Given the description of an element on the screen output the (x, y) to click on. 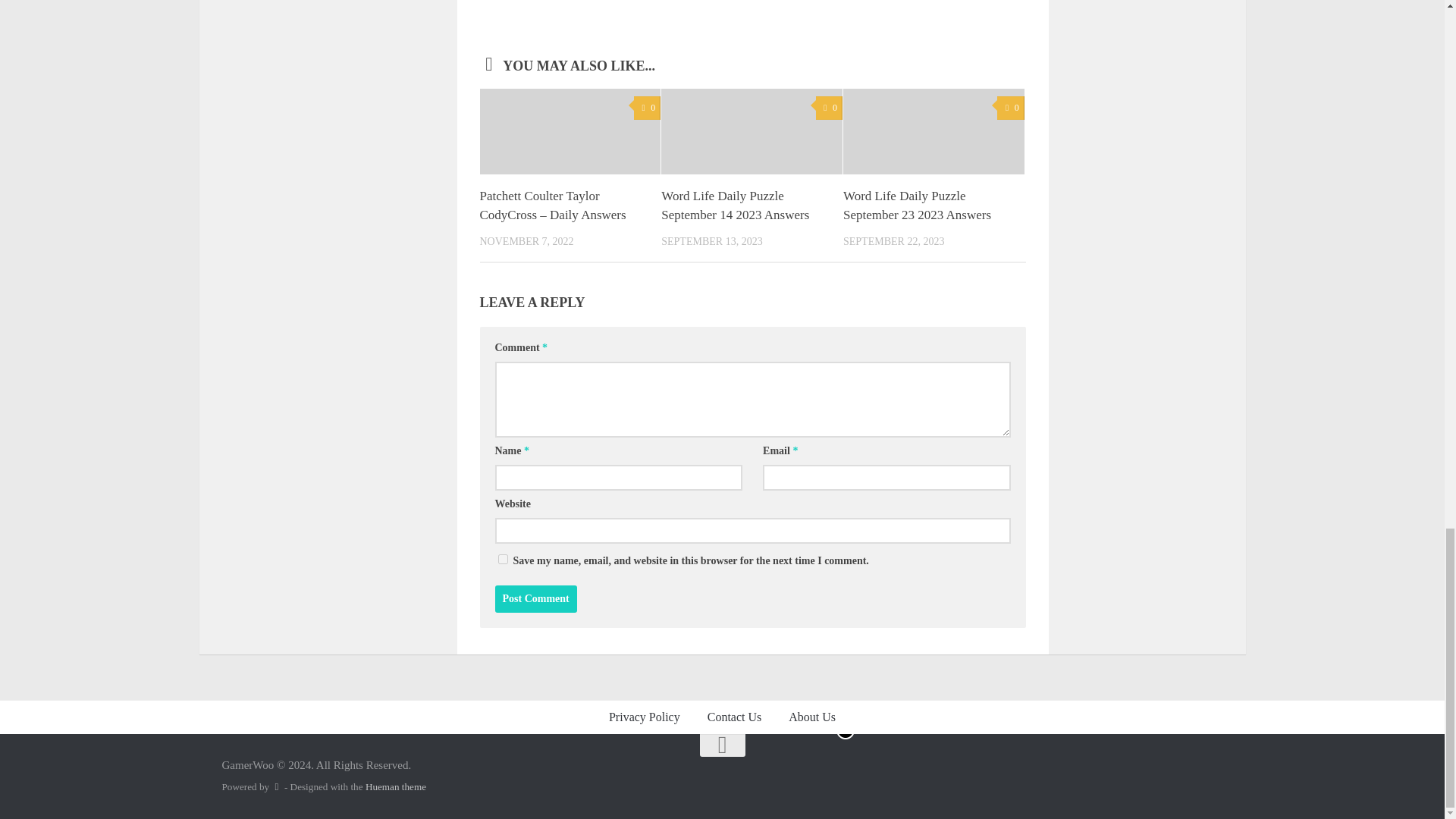
0 (647, 107)
About Us (811, 717)
Privacy Policy (644, 717)
Hueman theme (395, 786)
yes (501, 559)
Powered by WordPress (275, 786)
Word Life Daily Puzzle September 14 2023 Answers (735, 205)
Post Comment (535, 598)
0 (829, 107)
Post Comment (535, 598)
Hueman theme (395, 786)
0 (1010, 107)
Contact Us (735, 717)
Word Life Daily Puzzle September 23 2023 Answers (917, 205)
